Given the description of an element on the screen output the (x, y) to click on. 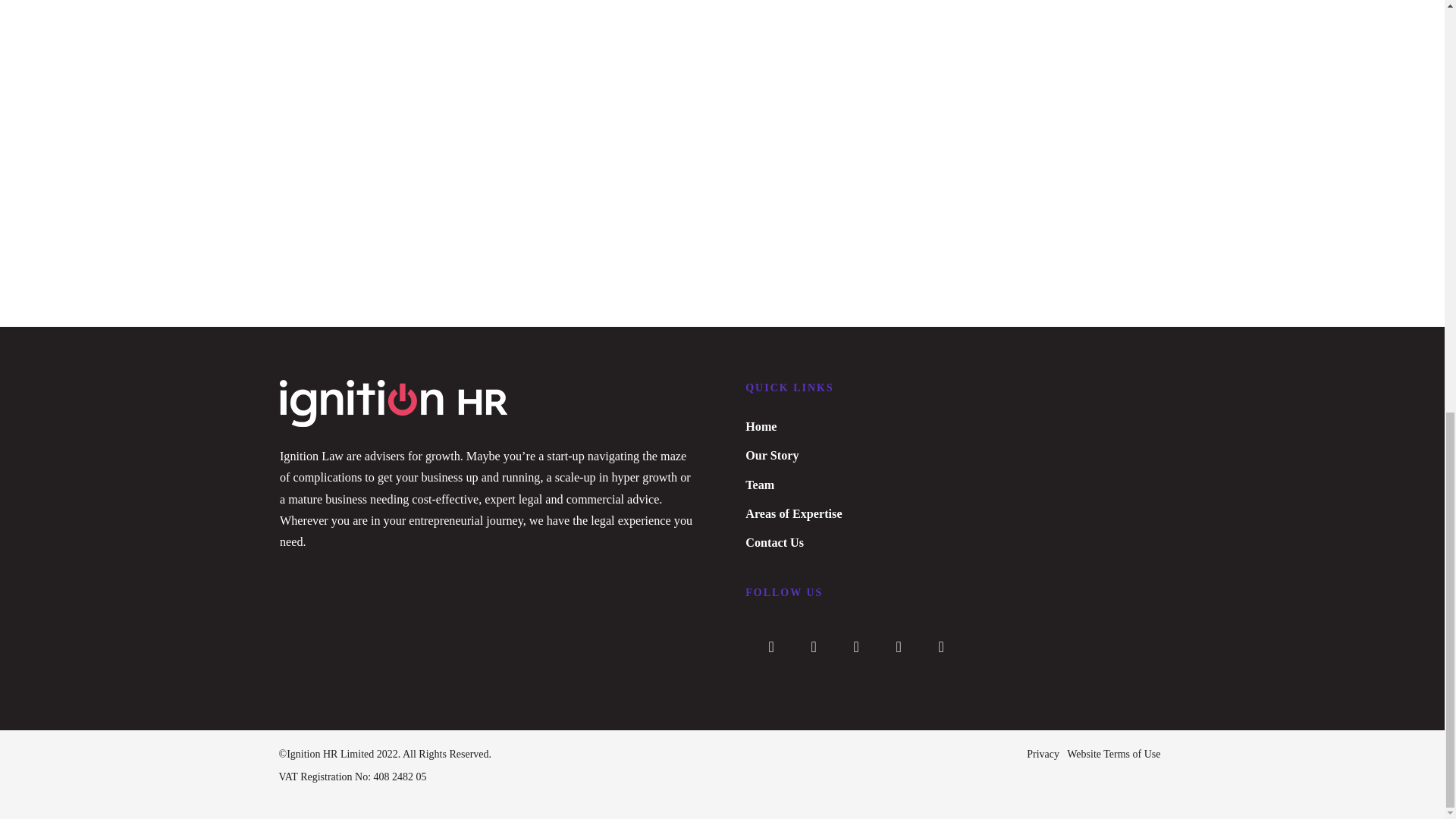
Team (759, 485)
Home (760, 427)
Contact Us (774, 542)
Areas of Expertise (793, 513)
Our Story (771, 455)
